Given the description of an element on the screen output the (x, y) to click on. 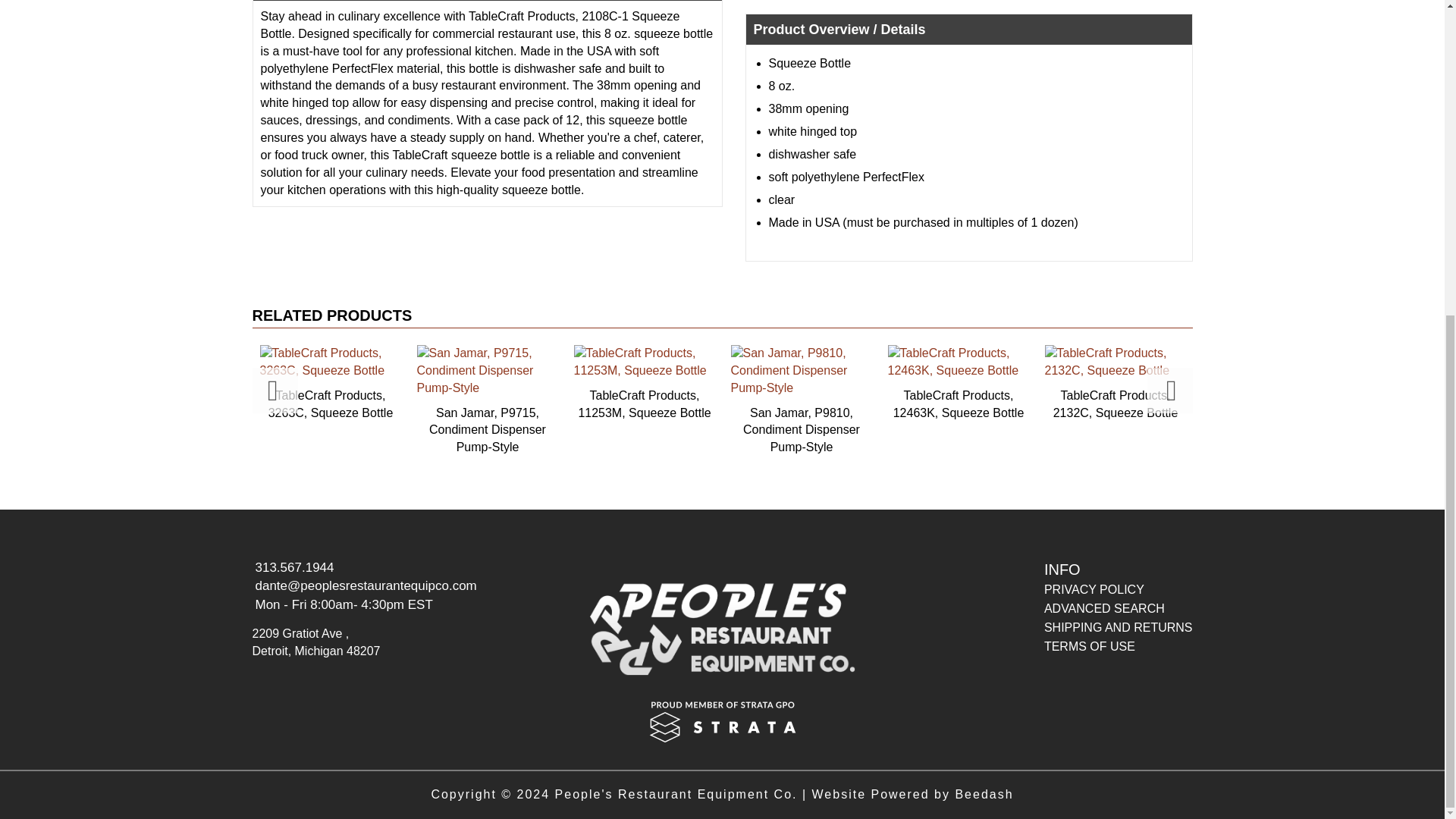
TableCraft Products, 12463K, Squeeze Bottle (957, 383)
TableCraft Products, 2132C, Squeeze Bottle (1114, 383)
San Jamar, P9810, Condiment Dispenser Pump-Style (801, 400)
San Jamar, P9715, Condiment Dispenser Pump-Style (487, 400)
TableCraft Products, 11253M, Squeeze Bottle (644, 383)
TableCraft Products, 32SV, Squeeze Bottle (173, 383)
TableCraft Products, 3263C, Squeeze Bottle (330, 383)
